Given the description of an element on the screen output the (x, y) to click on. 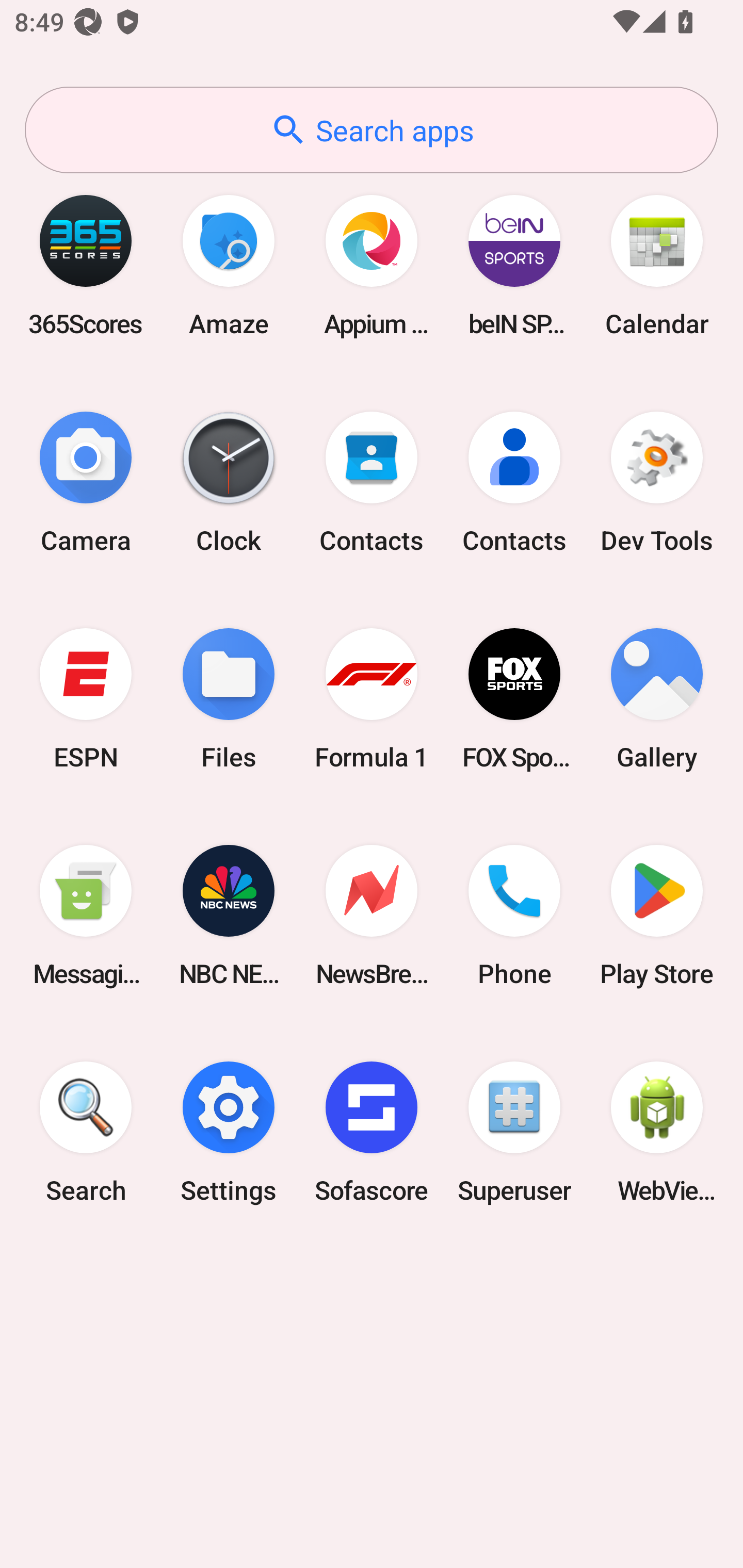
  Search apps (371, 130)
365Scores (85, 264)
Amaze (228, 264)
Appium Settings (371, 264)
beIN SPORTS (514, 264)
Calendar (656, 264)
Camera (85, 482)
Clock (228, 482)
Contacts (371, 482)
Contacts (514, 482)
Dev Tools (656, 482)
ESPN (85, 699)
Files (228, 699)
Formula 1 (371, 699)
FOX Sports (514, 699)
Gallery (656, 699)
Messaging (85, 915)
NBC NEWS (228, 915)
NewsBreak (371, 915)
Phone (514, 915)
Play Store (656, 915)
Search (85, 1131)
Settings (228, 1131)
Sofascore (371, 1131)
Superuser (514, 1131)
WebView Browser Tester (656, 1131)
